Given the description of an element on the screen output the (x, y) to click on. 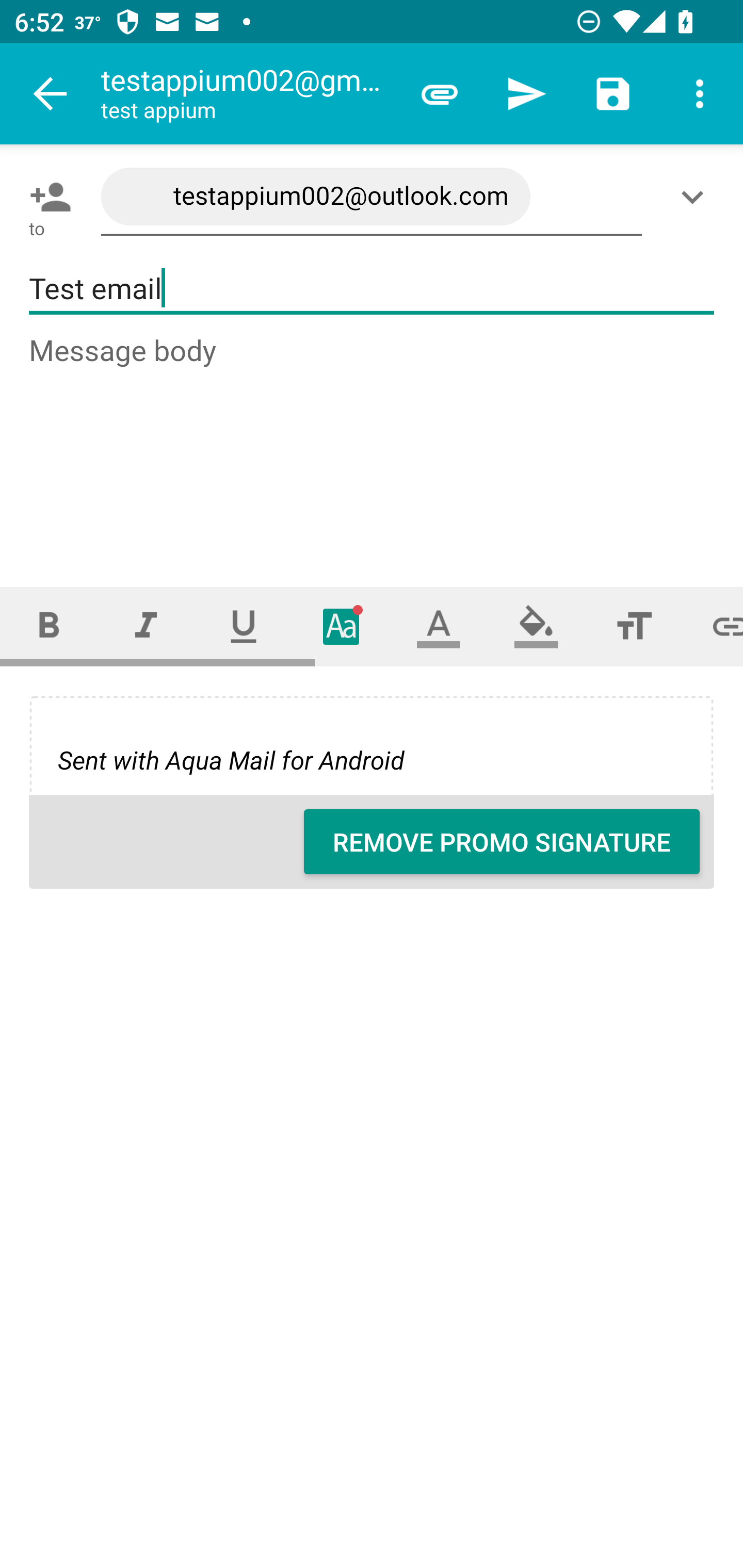
Navigate up (50, 93)
testappium002@gmail.com test appium (248, 93)
Attach (439, 93)
Send (525, 93)
Save (612, 93)
More options (699, 93)
testappium002@outlook.com,  (371, 197)
Pick contact: To (46, 196)
Show/Add CC/BCC (696, 196)
Test email (371, 288)
Message body (372, 442)
Bold (48, 626)
Italic (145, 626)
Underline (243, 626)
Typeface (font) (341, 626)
Text color (438, 626)
Fill color (536, 626)
Font size (633, 626)
REMOVE PROMO SIGNATURE (501, 841)
